Given the description of an element on the screen output the (x, y) to click on. 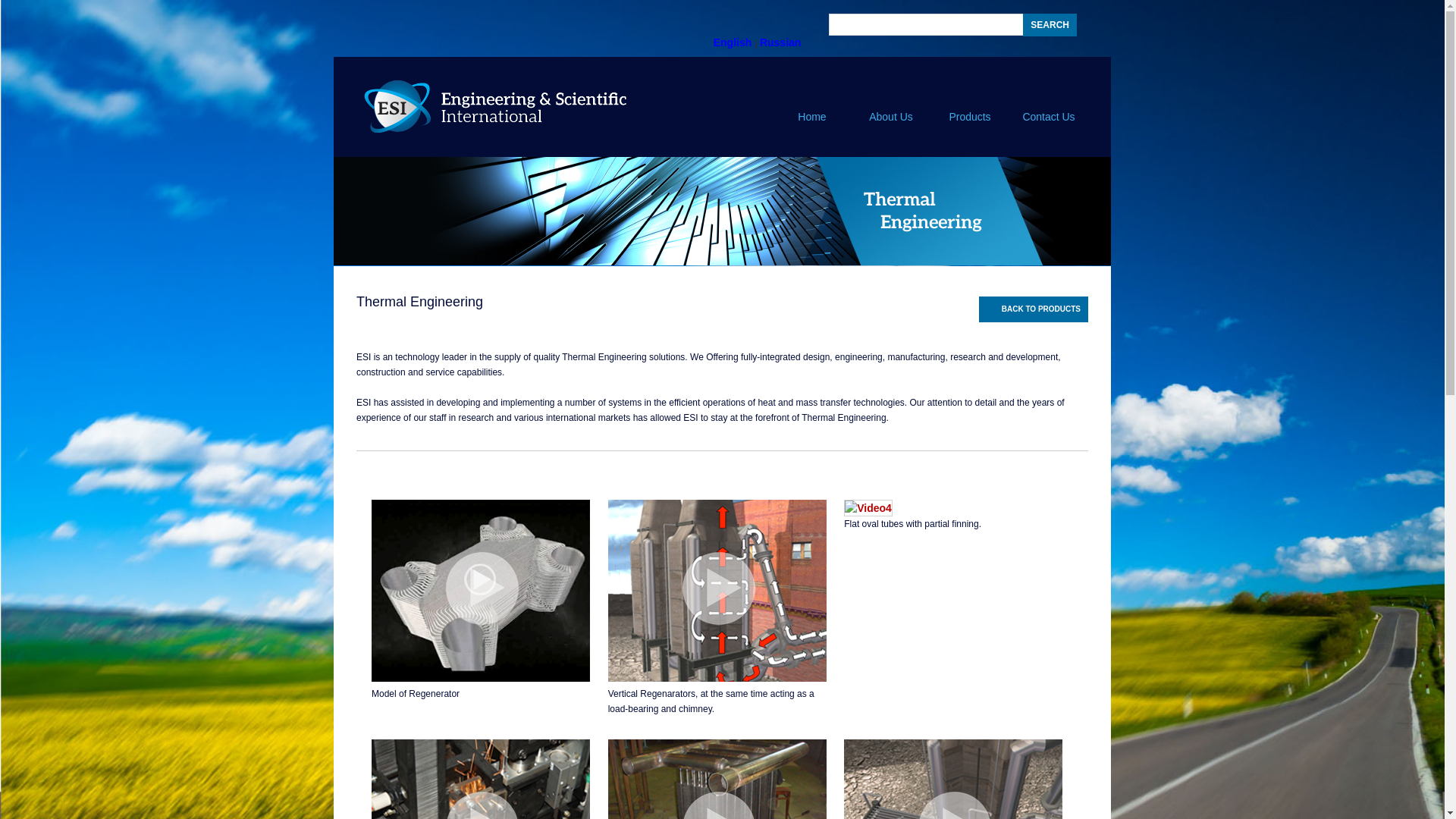
Russian (780, 42)
Search (1050, 24)
English Language (732, 42)
Search (1050, 24)
Russian language (780, 42)
BACK TO PRODUCTS (1032, 309)
English (732, 42)
